Given the description of an element on the screen output the (x, y) to click on. 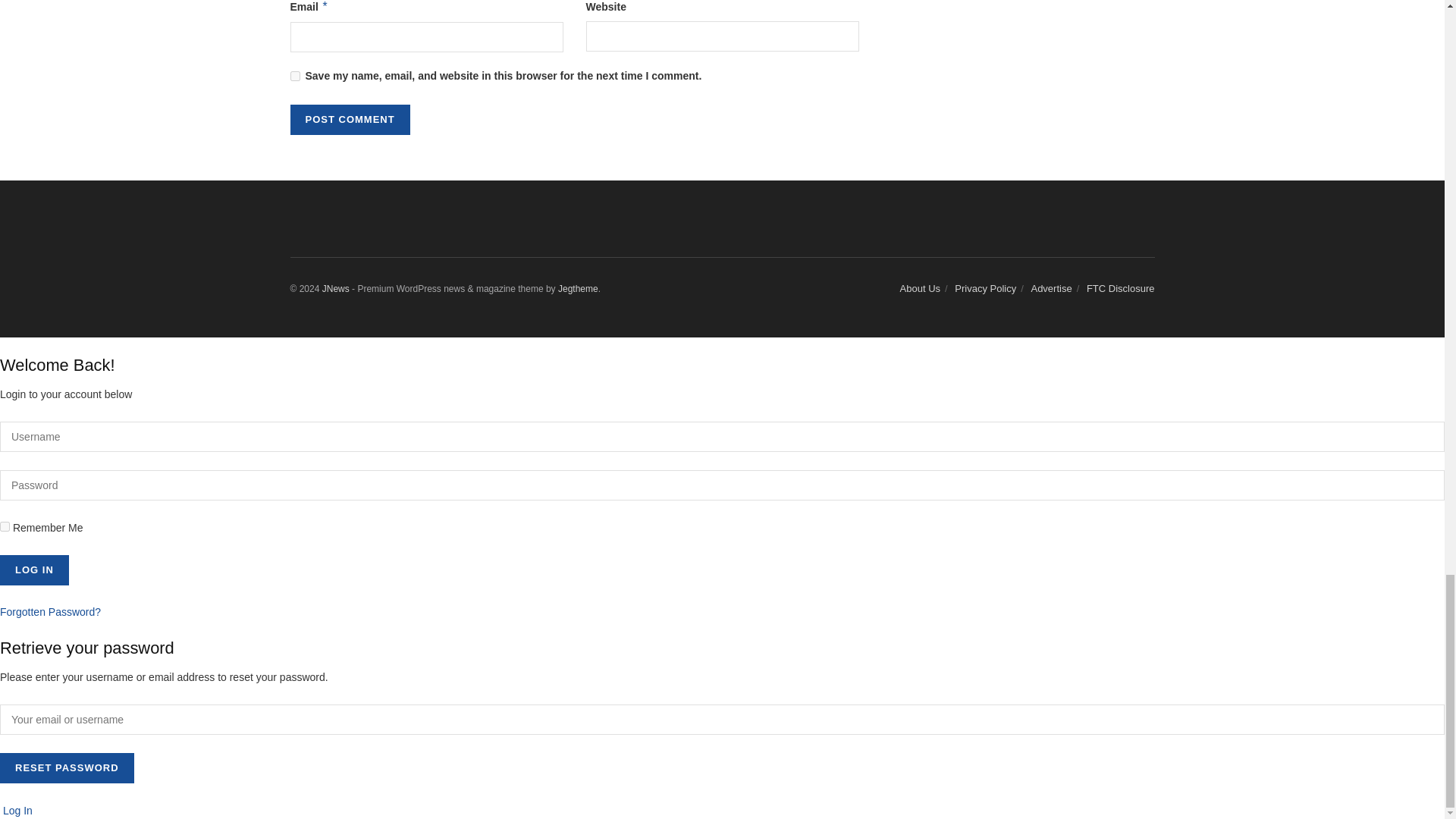
yes (294, 75)
Post Comment (349, 119)
true (5, 526)
Reset Password (66, 767)
Jegtheme (577, 288)
Log In (34, 570)
